Given the description of an element on the screen output the (x, y) to click on. 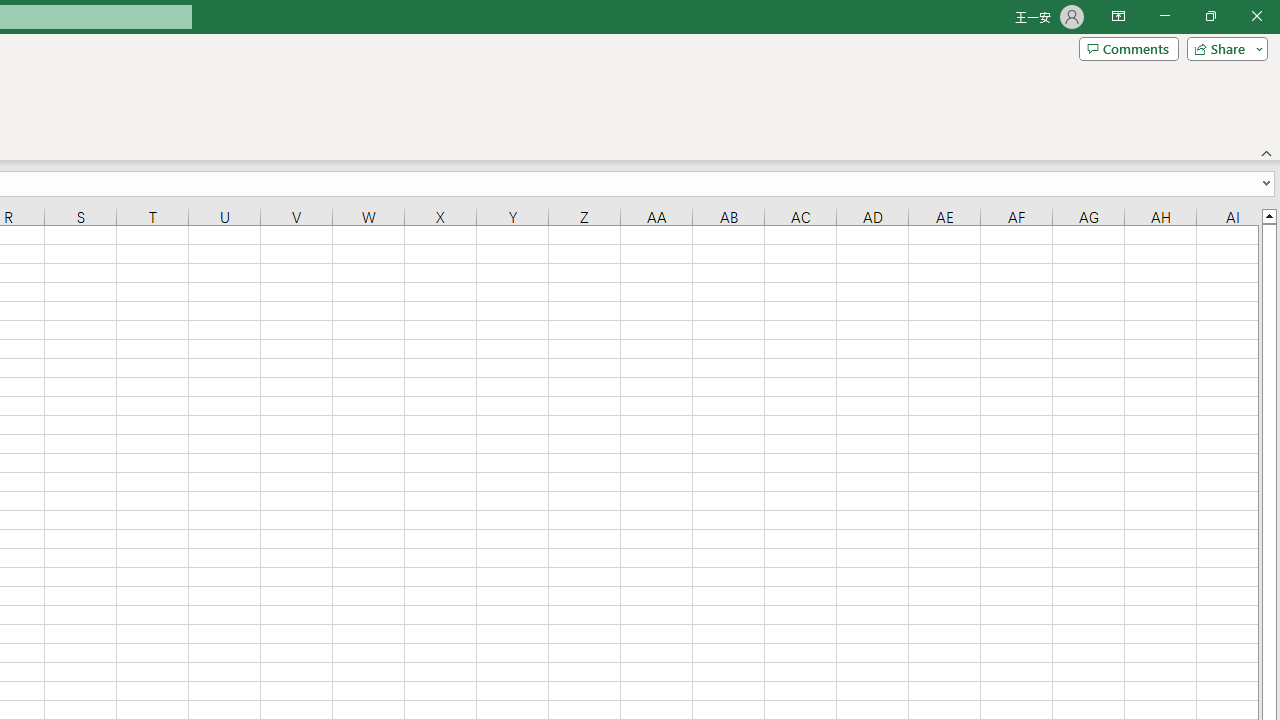
Collapse the Ribbon (1267, 152)
Close (1256, 16)
Minimize (1164, 16)
Share (1223, 48)
Comments (1128, 48)
Restore Down (1210, 16)
Ribbon Display Options (1118, 16)
Line up (1268, 215)
